Given the description of an element on the screen output the (x, y) to click on. 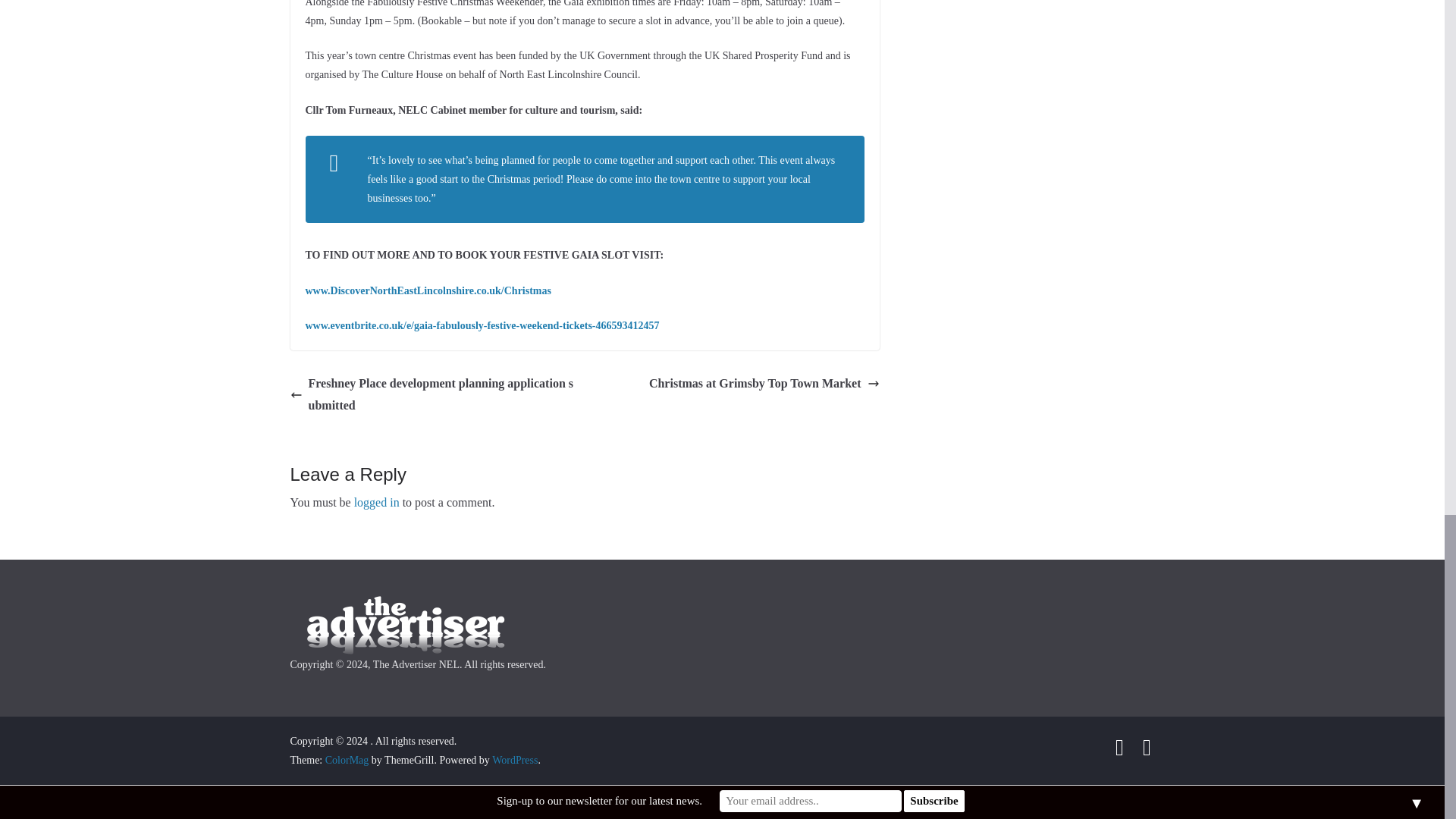
WordPress (514, 759)
logged in (375, 502)
ColorMag (346, 759)
ColorMag (346, 759)
Freshney Place development planning application submitted (432, 394)
Christmas at Grimsby Top Town Market (764, 383)
